Given the description of an element on the screen output the (x, y) to click on. 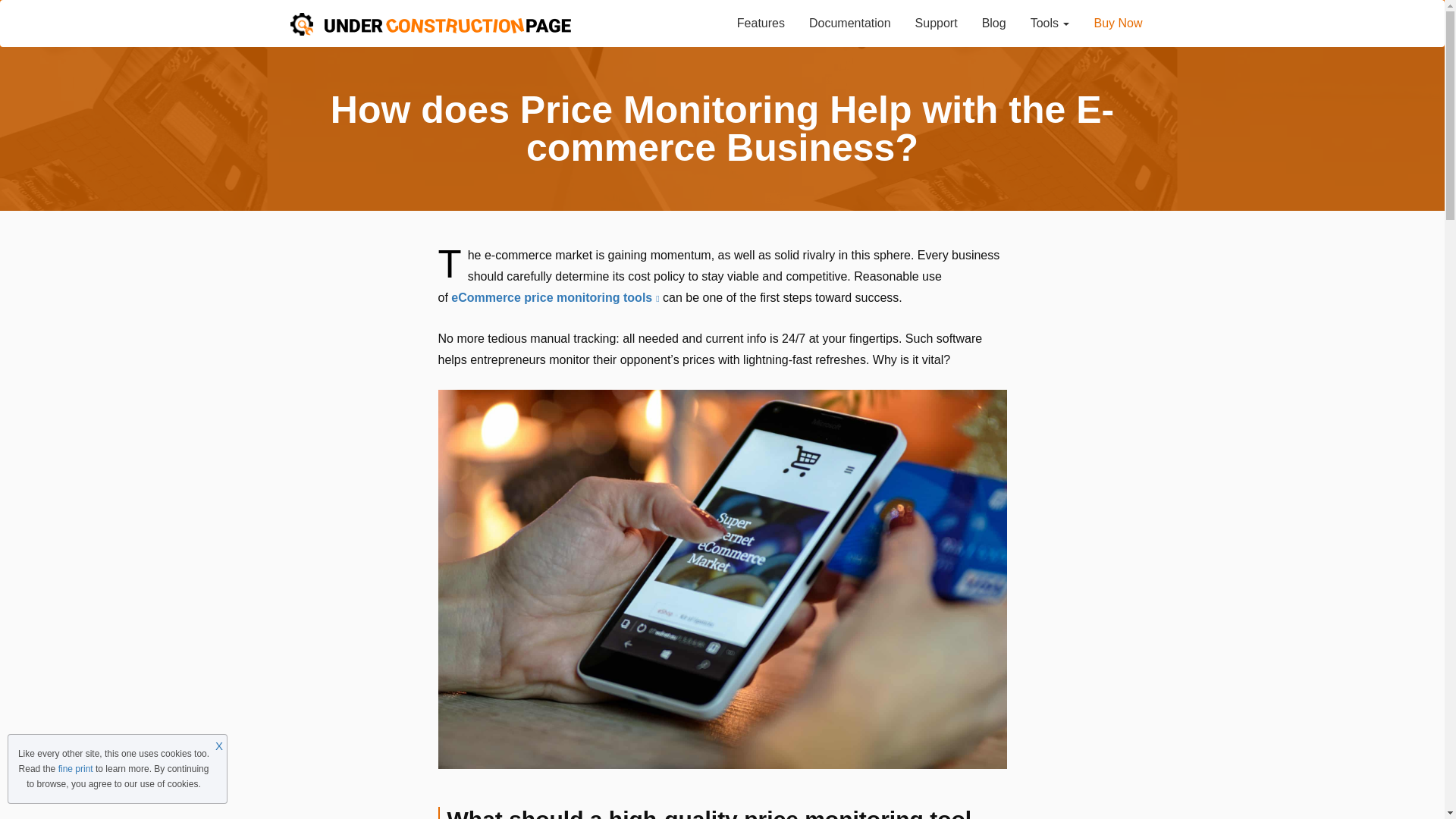
Buy Now (1117, 23)
Tools (1049, 23)
Documentation (849, 23)
Support (935, 23)
Tools (1049, 23)
Blog (993, 23)
Features (760, 23)
Features (760, 23)
Buy Now (1117, 23)
Support (935, 23)
Blog (993, 23)
Documentation (849, 23)
eCommerce price monitoring tools (555, 297)
